Given the description of an element on the screen output the (x, y) to click on. 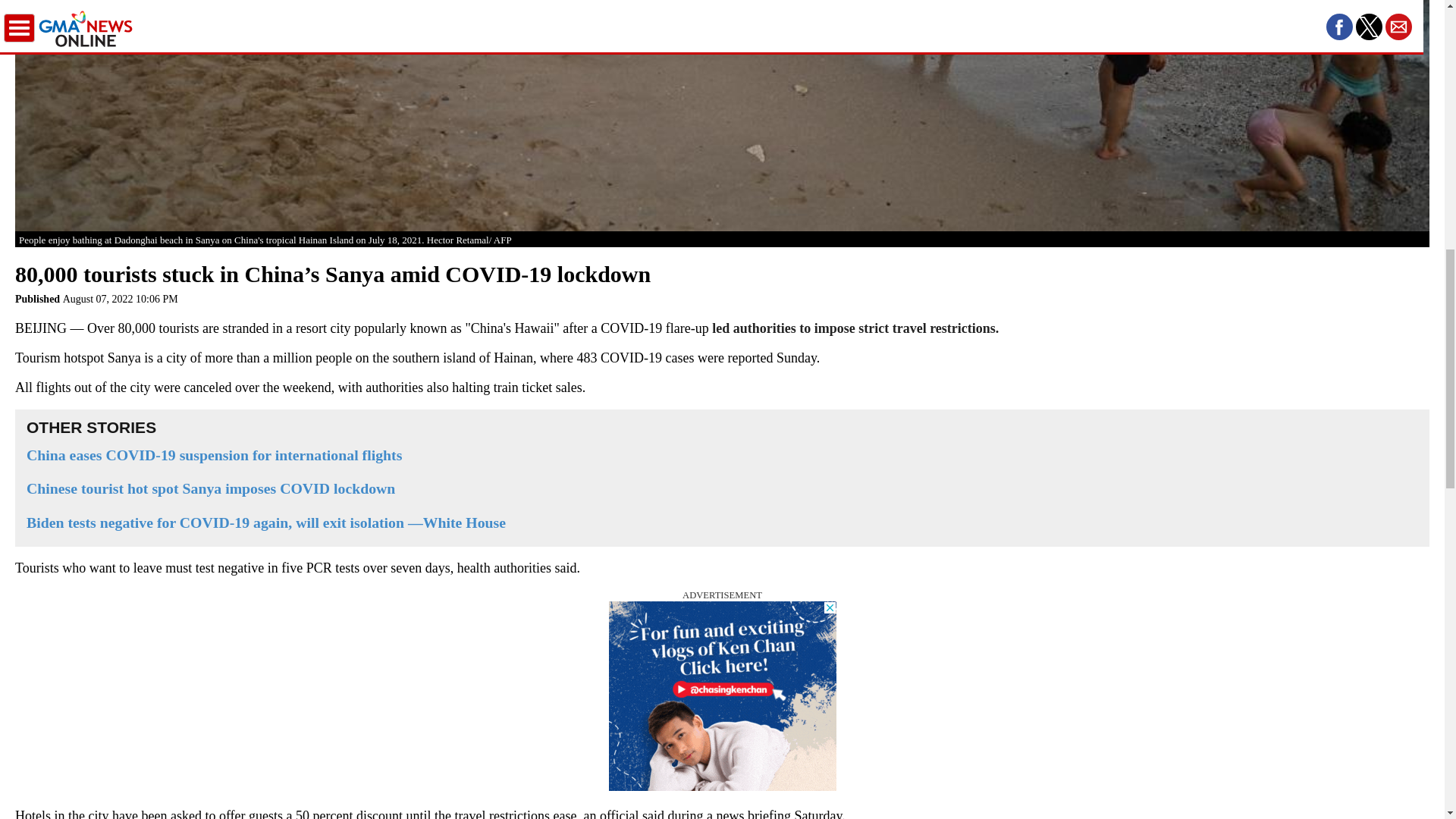
Chinese tourist hot spot Sanya imposes COVID lockdown (722, 488)
led authorities to impose strict travel restrictions. (854, 328)
3rd party ad content (721, 696)
China eases COVID-19 suspension for international flights (722, 455)
